Given the description of an element on the screen output the (x, y) to click on. 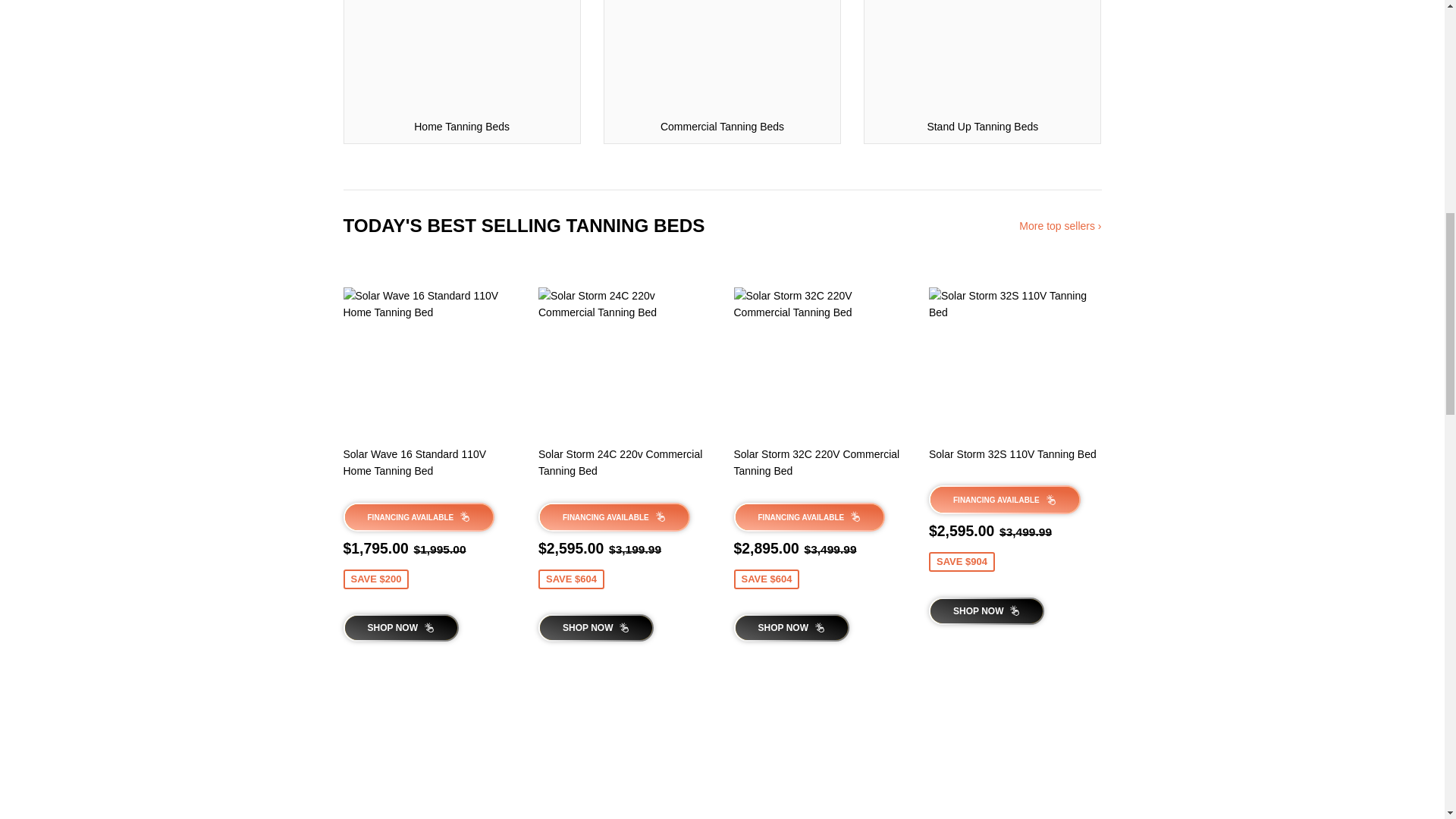
Stand Up Tanning Beds (981, 72)
Browse our Commercial Tanning Beds collection (722, 72)
SHOP NOW (595, 627)
SHOP NOW (400, 627)
Browse our Home Tanning Beds collection (460, 72)
Browse our Stand Up Tanning Beds collection (981, 72)
Home Tanning Beds (460, 72)
FINANCING AVAILABLE (614, 516)
Commercial Tanning Beds (722, 72)
FINANCING AVAILABLE (418, 516)
